Given the description of an element on the screen output the (x, y) to click on. 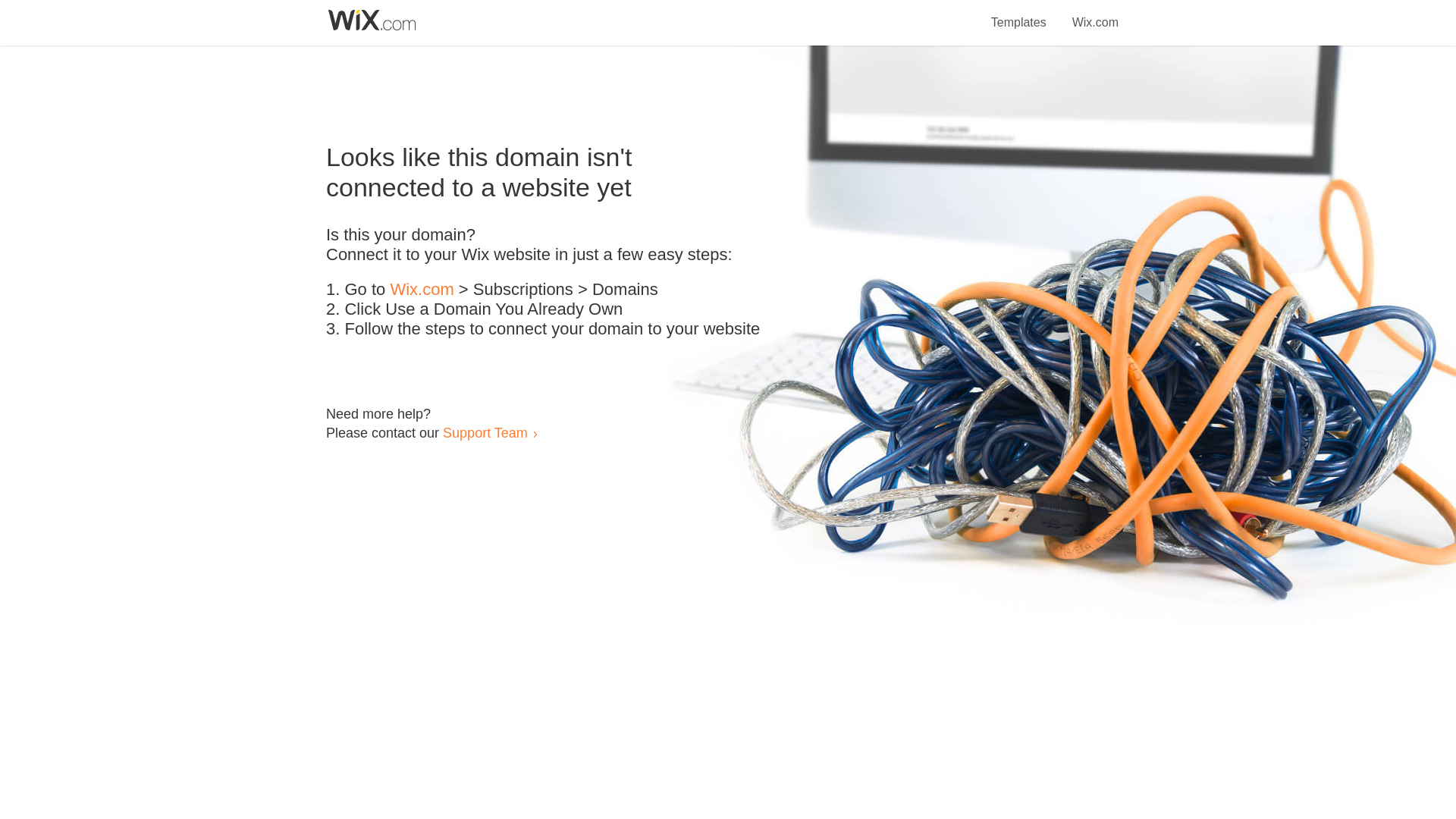
Templates (1018, 14)
Wix.com (421, 289)
Support Team (484, 432)
Wix.com (1095, 14)
